Given the description of an element on the screen output the (x, y) to click on. 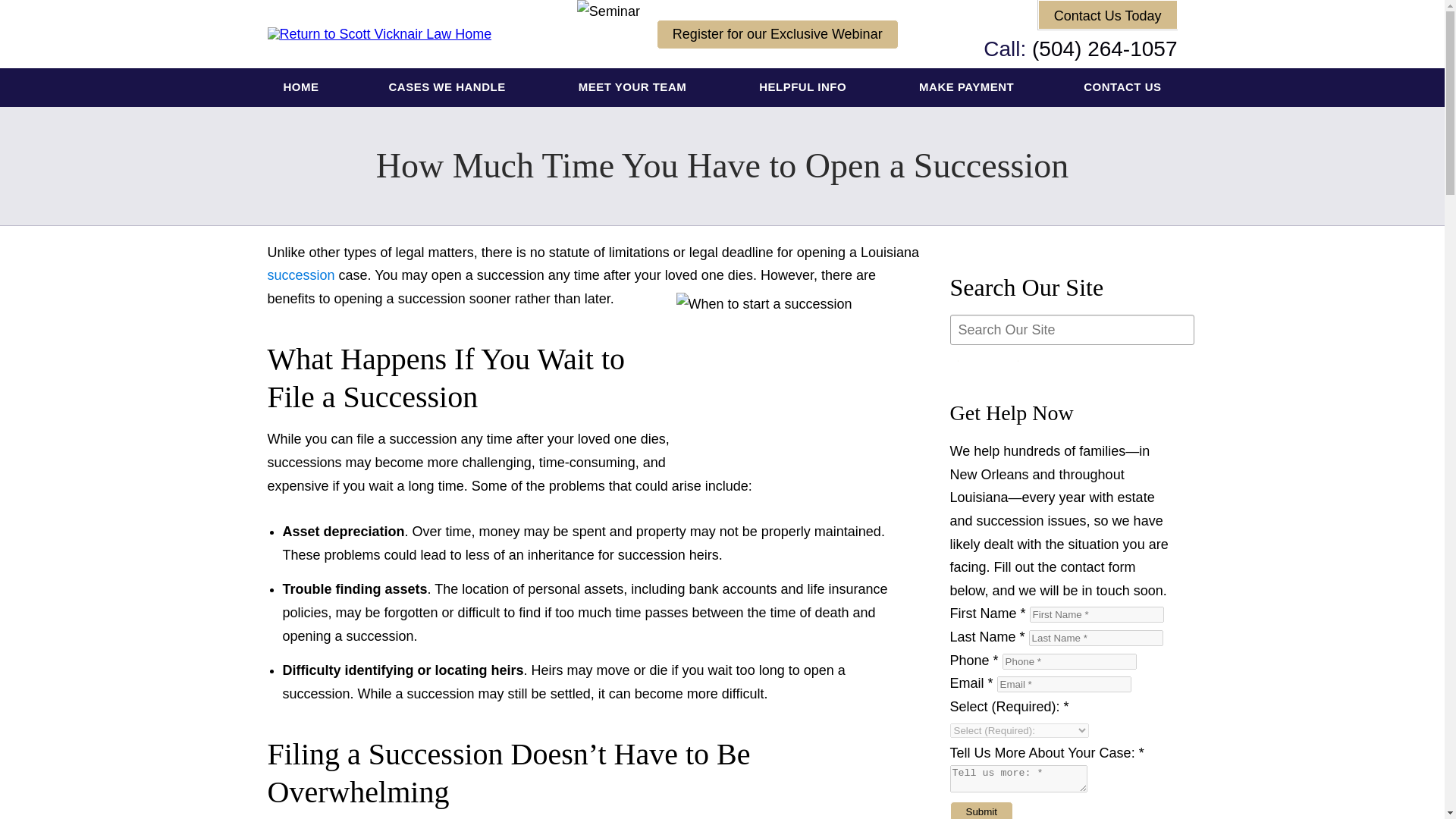
Register for our Exclusive Webinar (777, 34)
Contact Us Today (1107, 14)
HOME (300, 87)
CASES WE HANDLE (448, 87)
CONTACT US (1121, 87)
Search (986, 360)
MAKE PAYMENT (965, 87)
HELPFUL INFO (803, 87)
MEET YOUR TEAM (634, 87)
succession (300, 274)
